Given the description of an element on the screen output the (x, y) to click on. 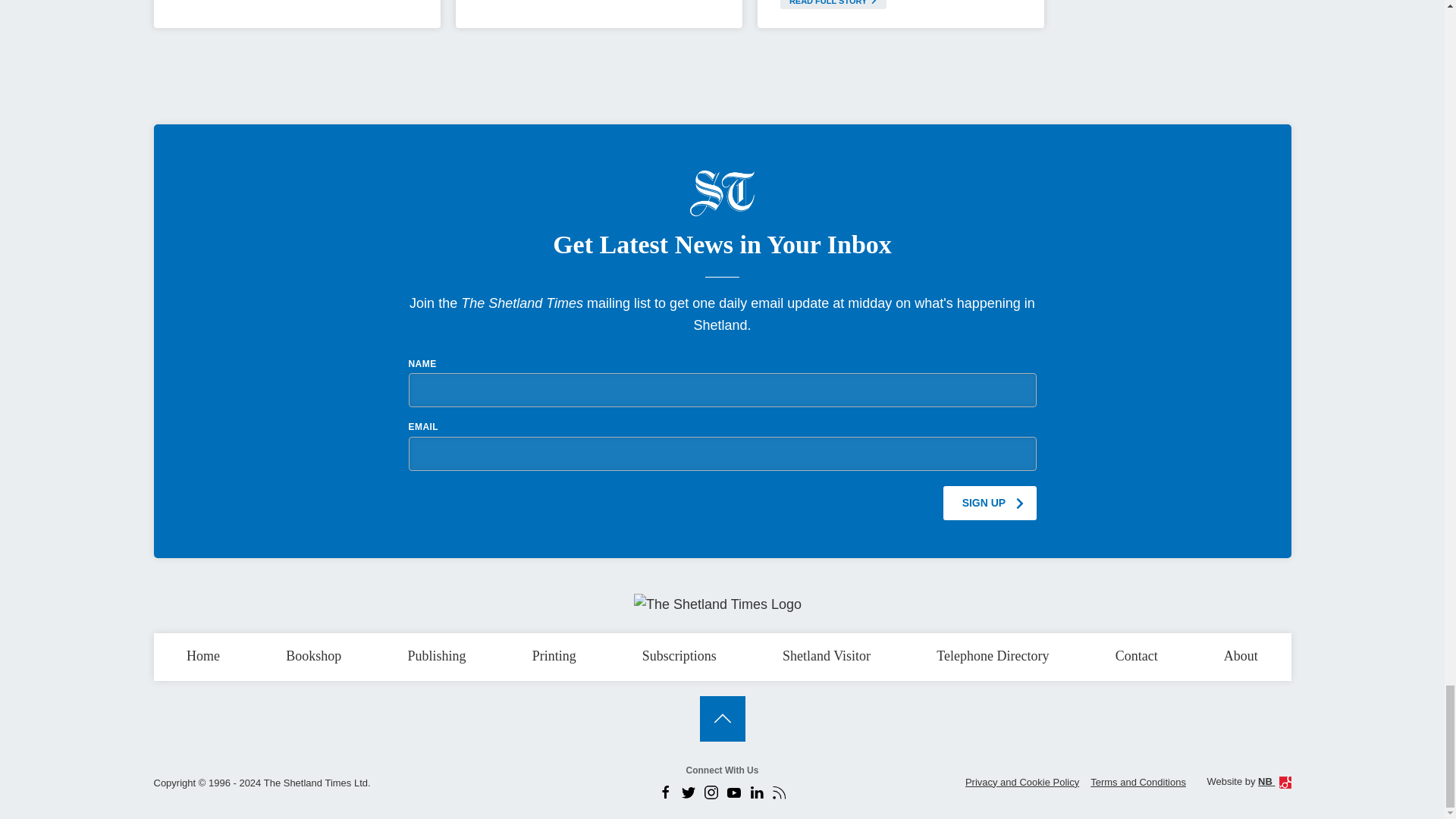
Shetland's website design and internet marketing specialists (1273, 781)
